Given the description of an element on the screen output the (x, y) to click on. 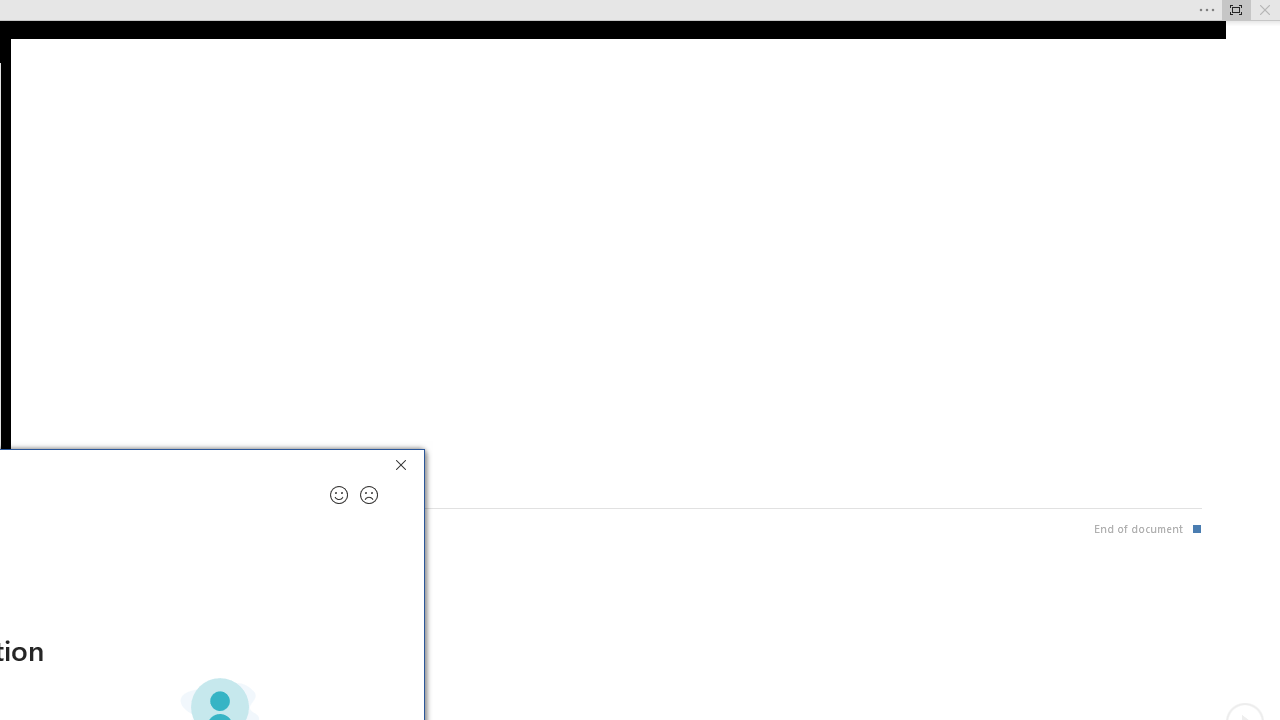
Always Show Reading Toolbar (1236, 10)
Send a frown for feedback (369, 494)
Send a smile for feedback (338, 494)
